Given the description of an element on the screen output the (x, y) to click on. 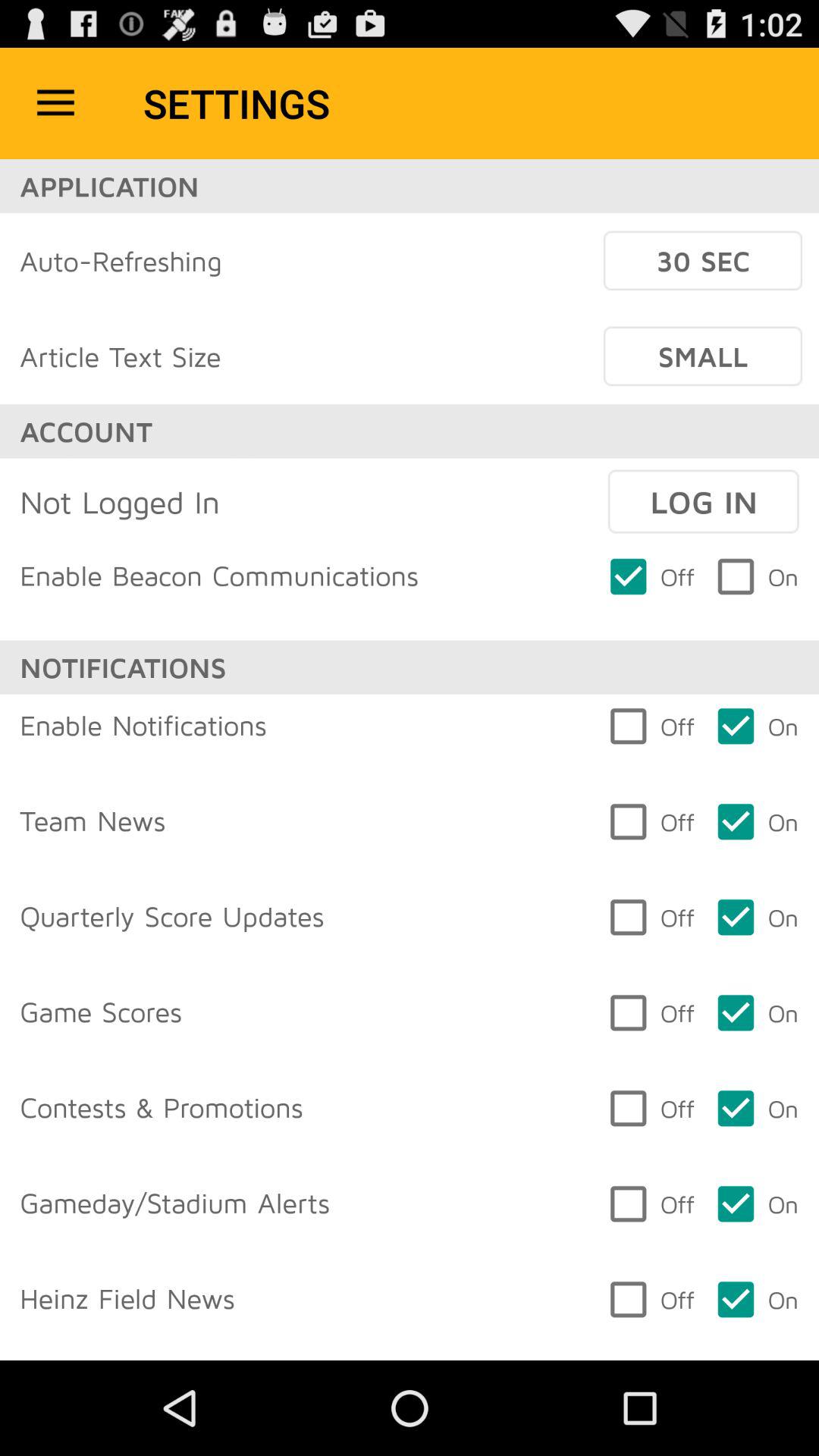
turn on item to the left of the settings icon (55, 103)
